Given the description of an element on the screen output the (x, y) to click on. 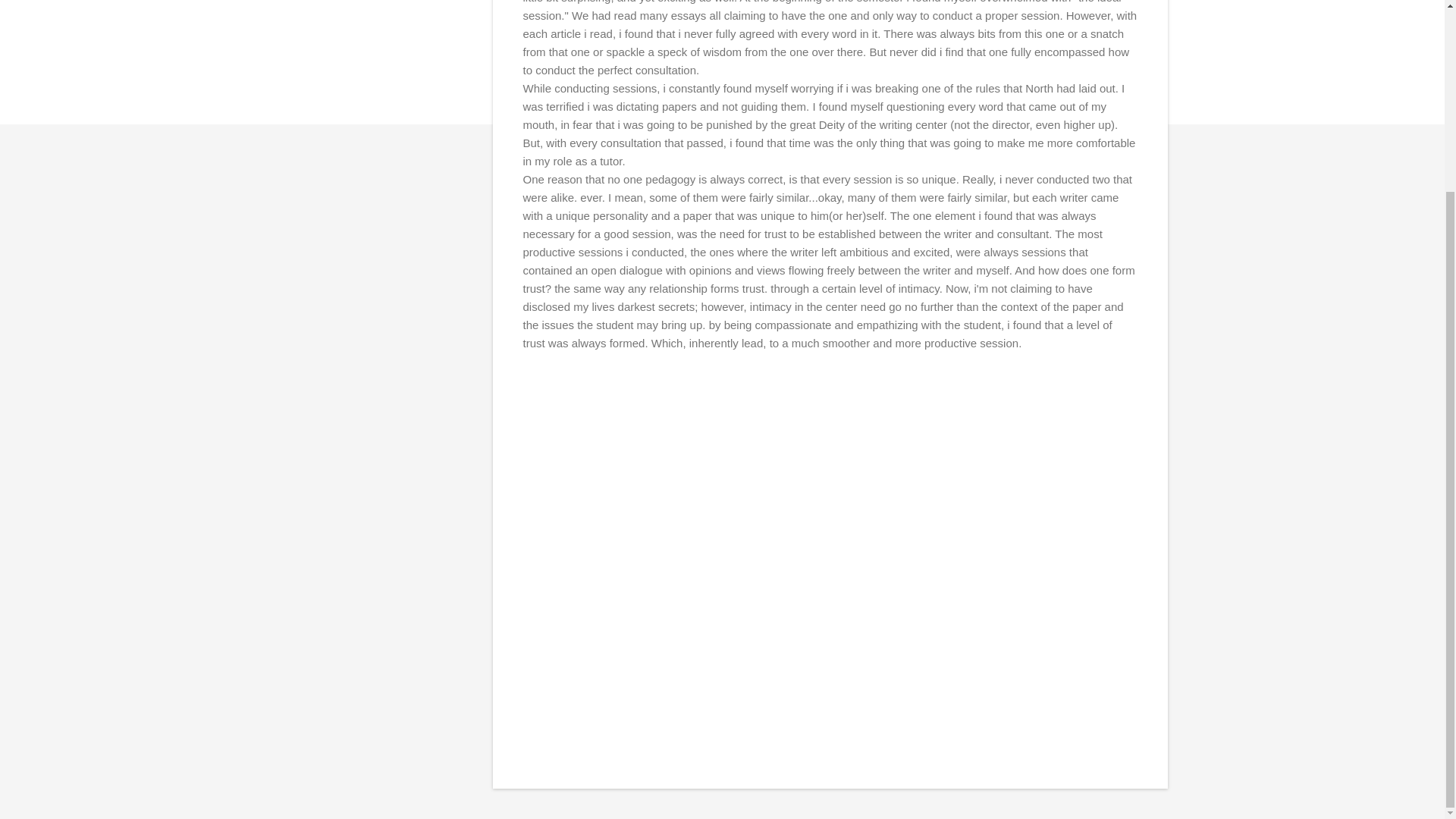
Email Post (531, 394)
